Given the description of an element on the screen output the (x, y) to click on. 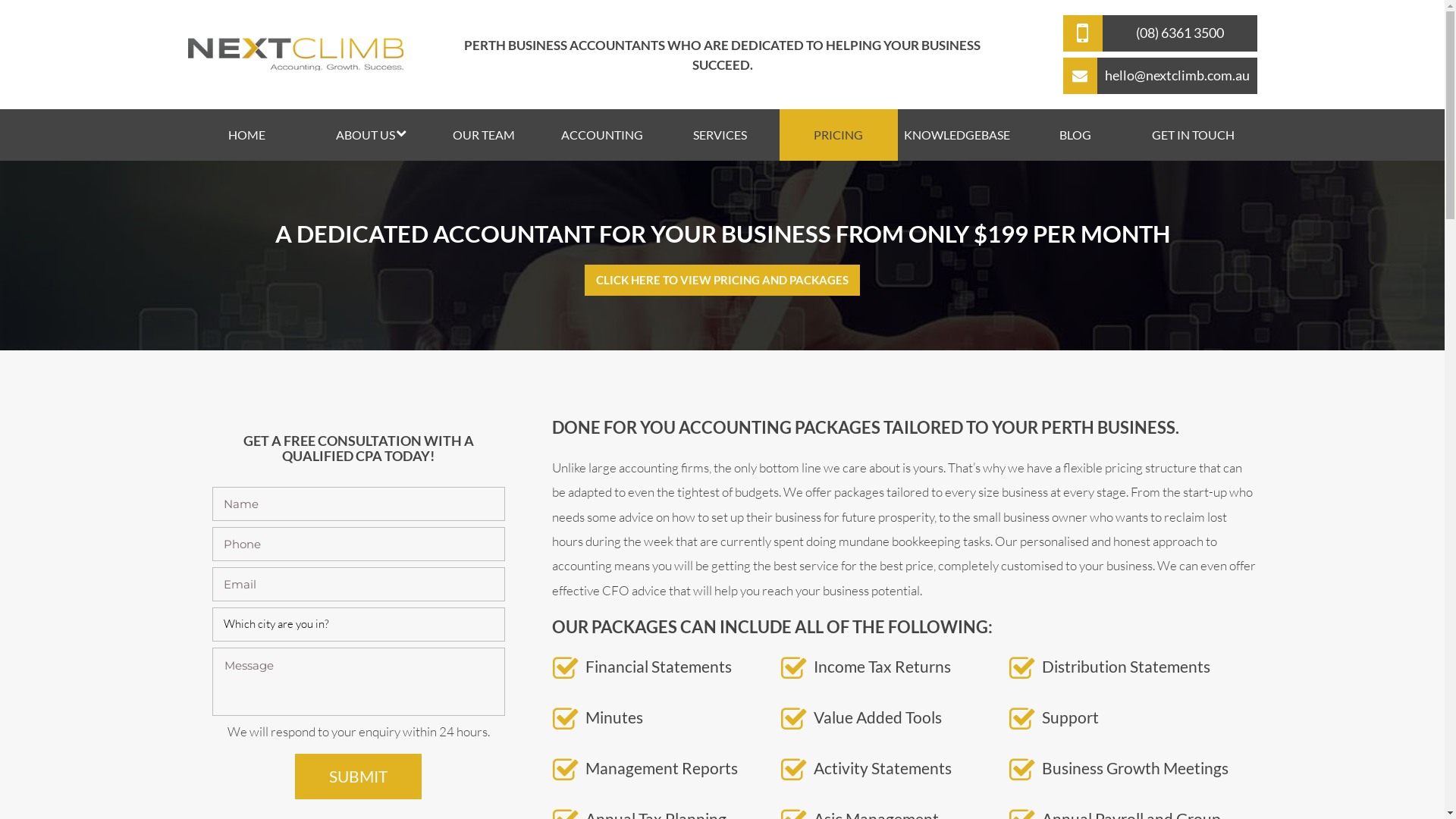
HOME Element type: text (247, 134)
CLICK HERE TO VIEW PRICING AND PACKAGES Element type: text (721, 279)
OUR TEAM Element type: text (483, 134)
GET IN TOUCH Element type: text (1193, 134)
KNOWLEDGEBASE Element type: text (956, 134)
BLOG Element type: text (1075, 134)
SUBMIT Element type: text (357, 776)
ABOUT US Element type: text (365, 134)
SERVICES Element type: text (720, 134)
ACCOUNTING Element type: text (601, 134)
PRICING Element type: text (838, 134)
hello@nextclimb.com.au Element type: text (1160, 75)
(08) 6361 3500 Element type: text (1160, 33)
